Given the description of an element on the screen output the (x, y) to click on. 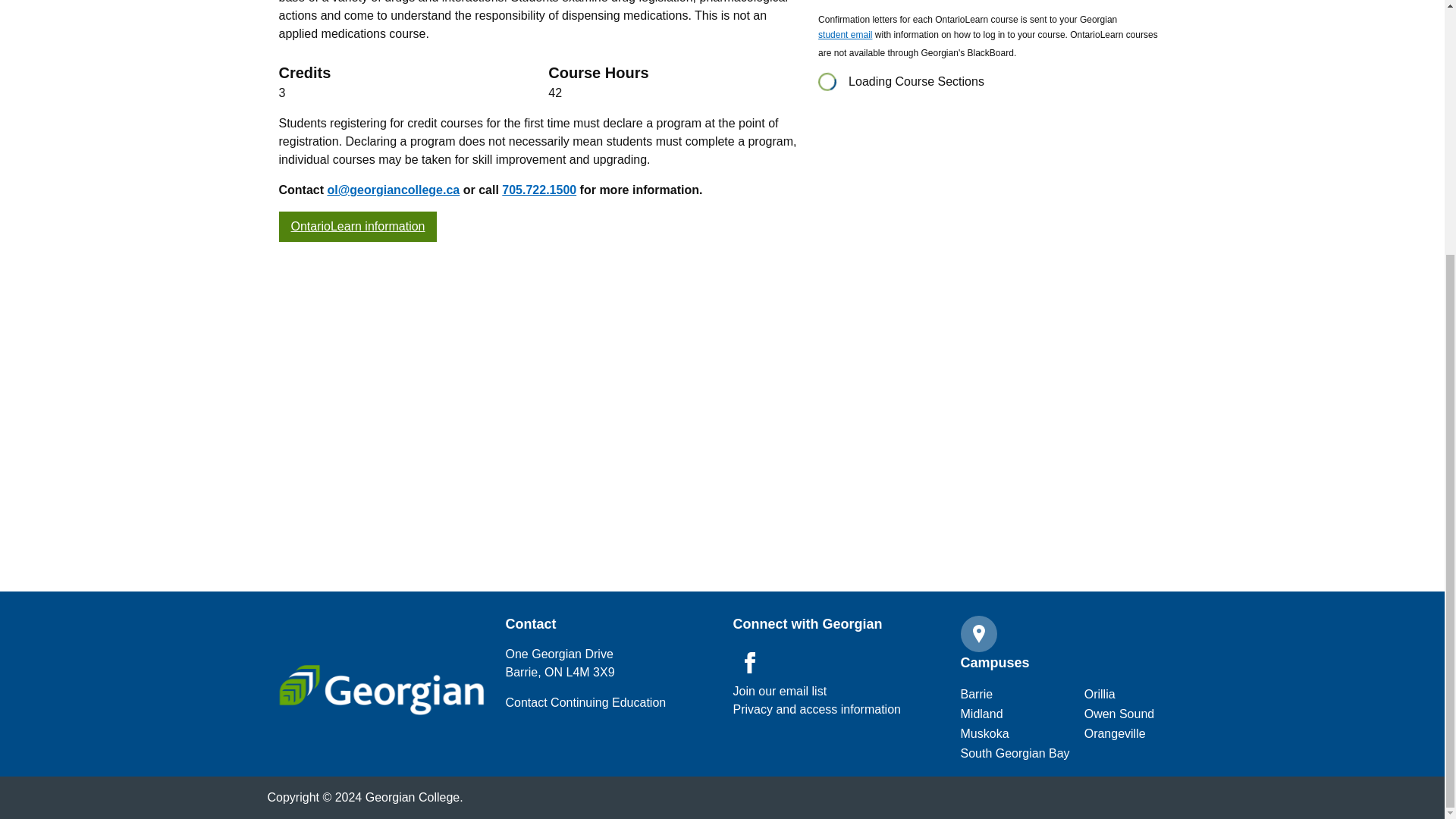
Privacy and access information (779, 691)
Georgian College Student Email (845, 36)
Privacy and access information (815, 710)
OntarioLearn (358, 226)
Contact Us (585, 701)
Georgian College (380, 689)
